Given the description of an element on the screen output the (x, y) to click on. 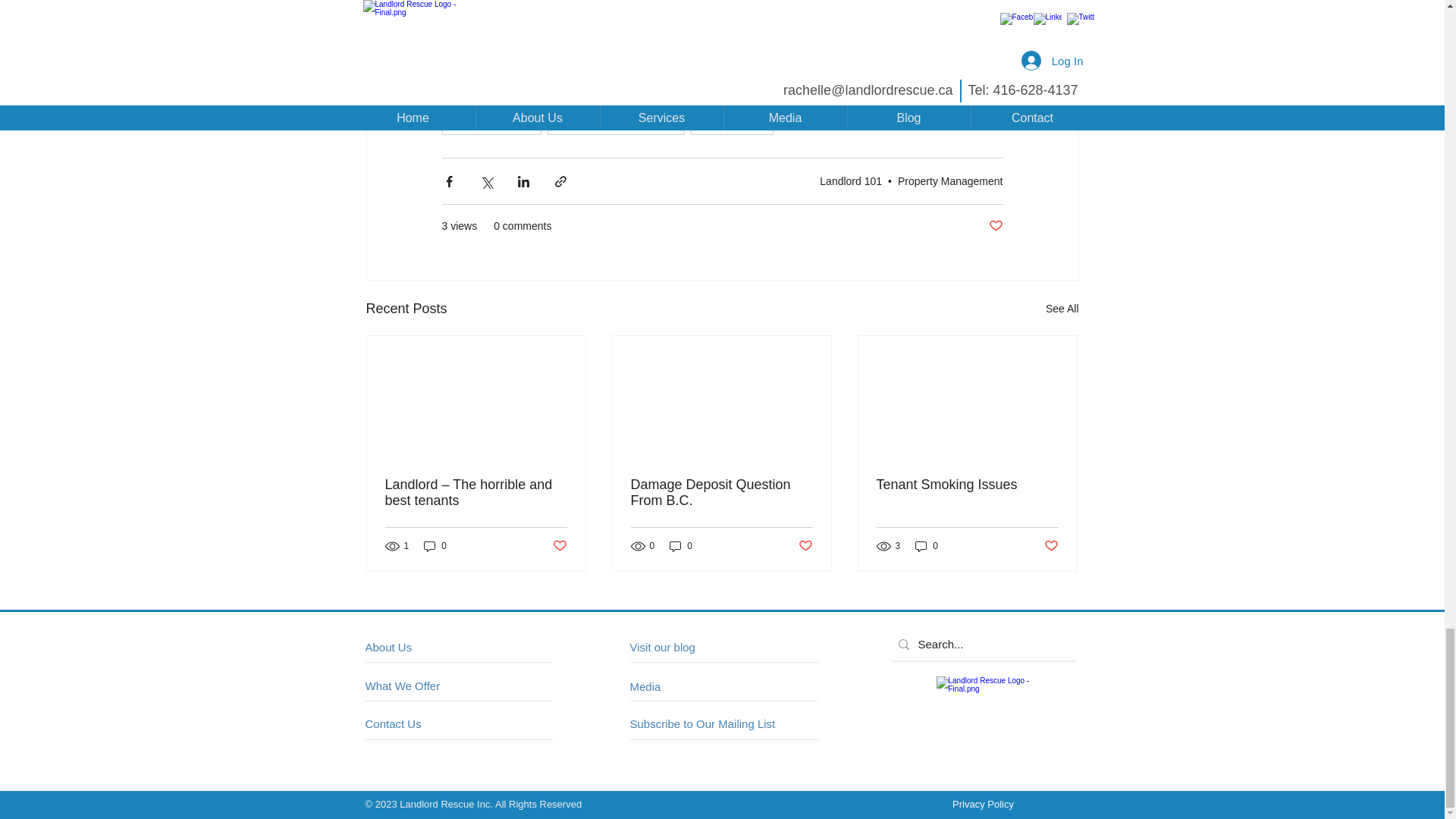
Property Ownership (728, 94)
Rental Property (487, 94)
Property Management (603, 94)
